Given the description of an element on the screen output the (x, y) to click on. 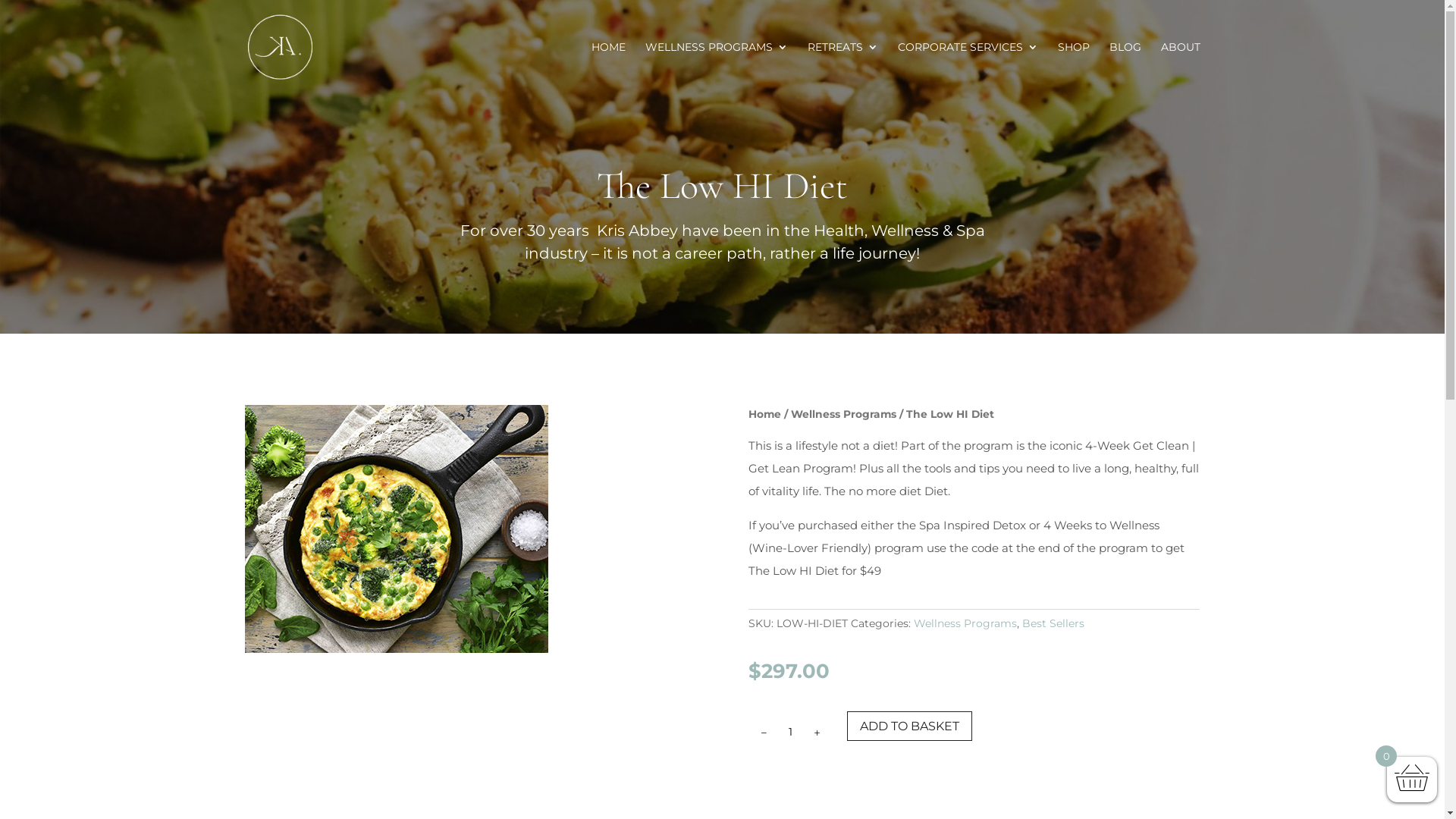
BLOG Element type: text (1124, 67)
Wellness Programs Element type: text (843, 413)
CORPORATE SERVICES Element type: text (967, 67)
ABOUT Element type: text (1179, 67)
The Low HI Diet Element type: hover (395, 528)
SHOP Element type: text (1072, 67)
Qty Element type: hover (789, 732)
The Low HI Diet Element type: hover (395, 648)
RETREATS Element type: text (841, 67)
WELLNESS PROGRAMS Element type: text (715, 67)
Best Sellers Element type: text (1053, 623)
ADD TO BASKET Element type: text (909, 725)
Home Element type: text (764, 413)
HOME Element type: text (608, 67)
Wellness Programs Element type: text (964, 623)
